Given the description of an element on the screen output the (x, y) to click on. 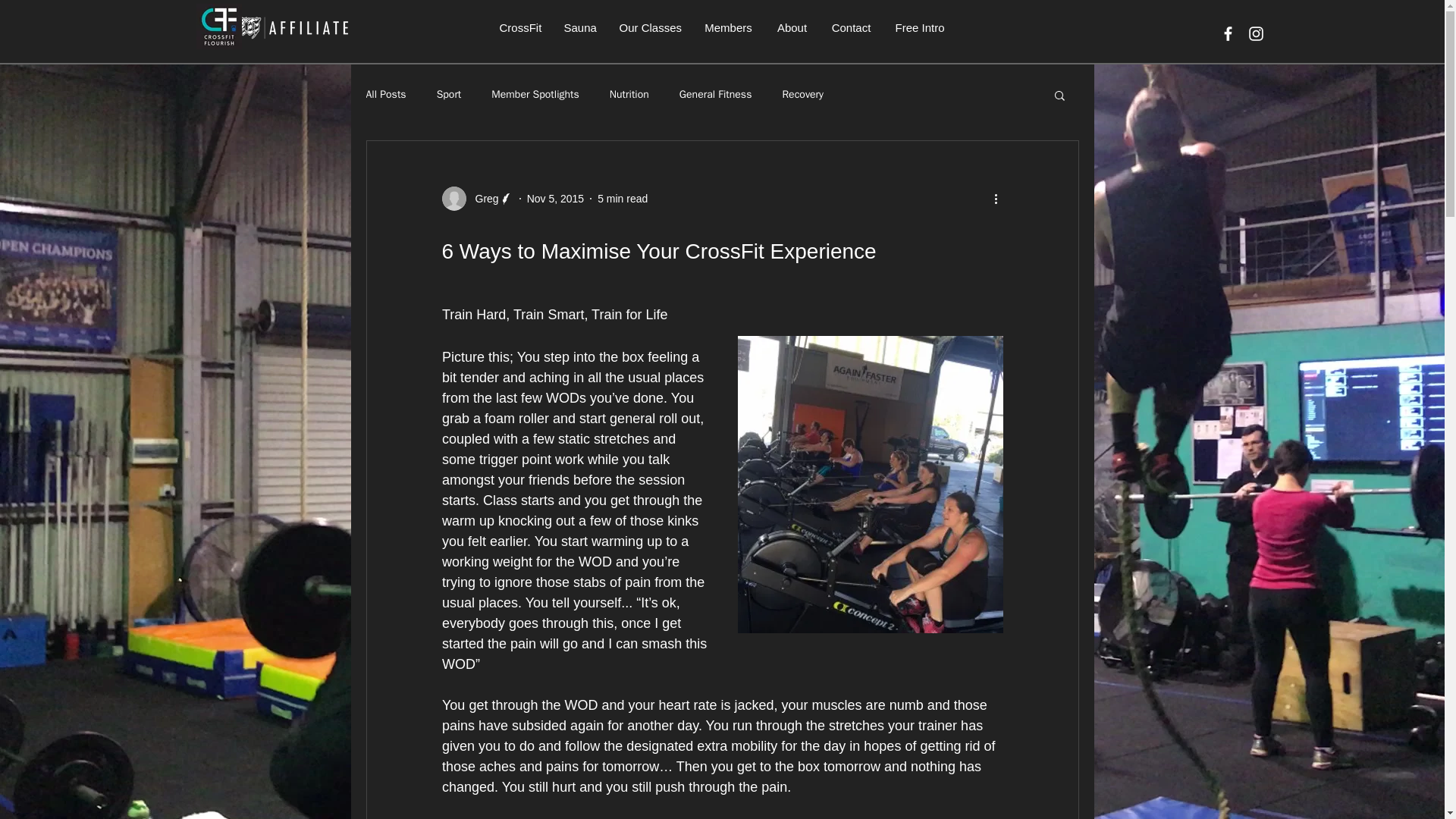
All Posts (385, 94)
Sport (448, 94)
5 min read (621, 198)
Nutrition (629, 94)
Greg (476, 198)
Recovery (802, 94)
Our Classes (650, 27)
Nov 5, 2015 (556, 198)
Contact (850, 27)
Greg (481, 198)
